Given the description of an element on the screen output the (x, y) to click on. 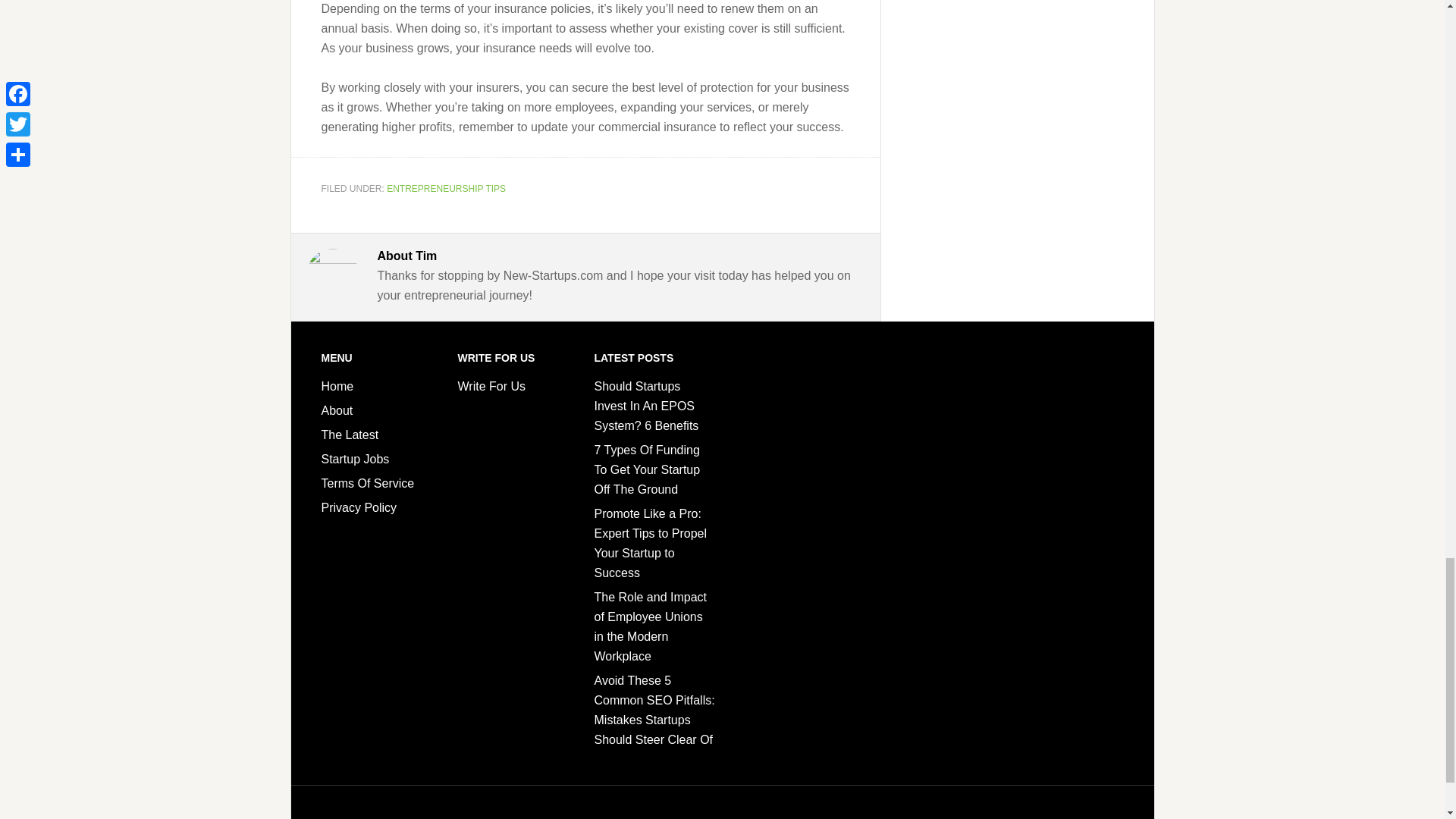
ENTREPRENEURSHIP TIPS (446, 188)
Home (337, 386)
The Latest (349, 434)
Startup Jobs (355, 459)
About (337, 410)
Privacy Policy (359, 507)
Terms Of Service (367, 482)
